Given the description of an element on the screen output the (x, y) to click on. 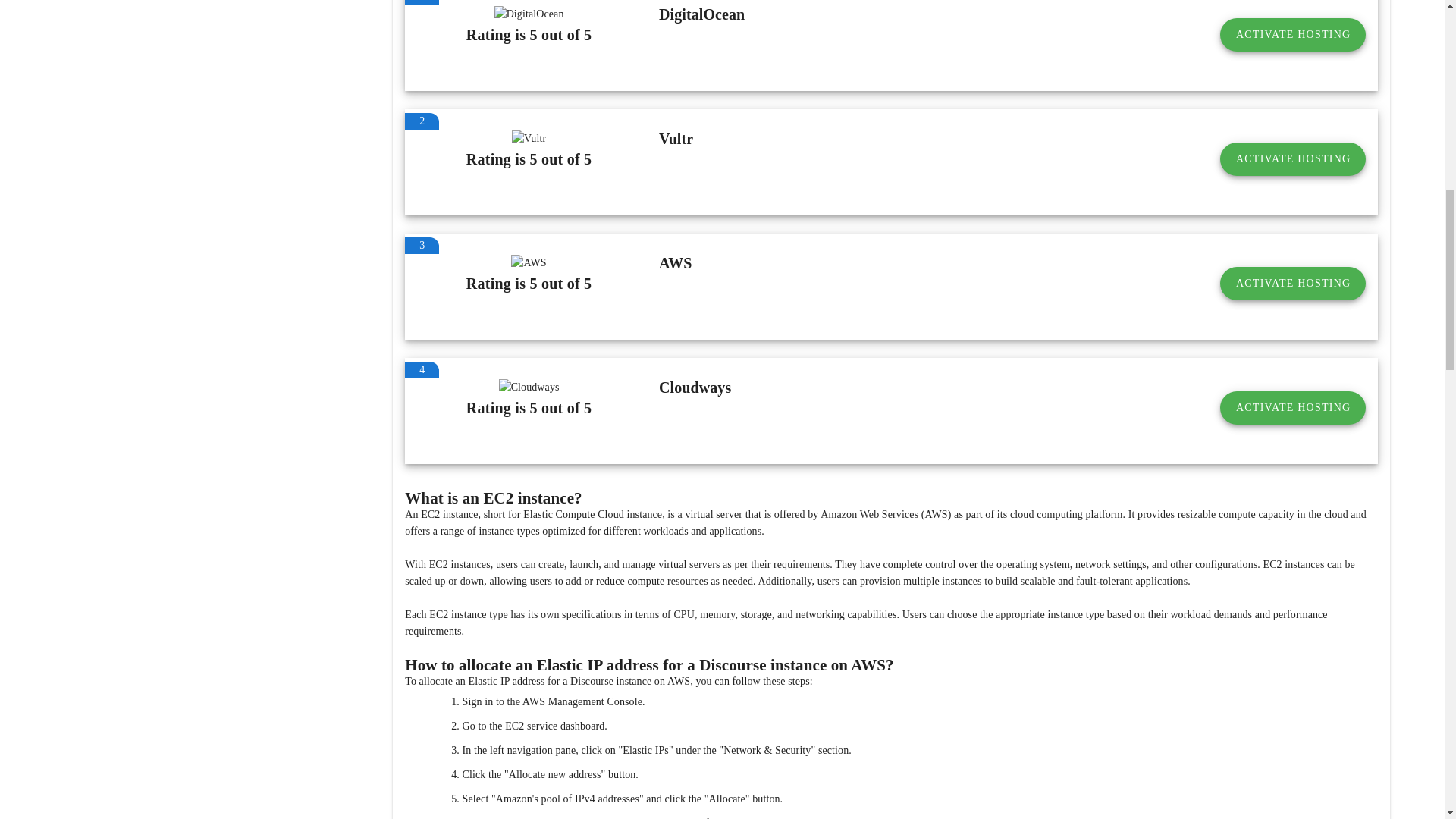
ACTIVATE HOSTING (1292, 408)
ACTIVATE HOSTING (1292, 159)
ACTIVATE HOSTING (1292, 34)
ACTIVATE HOSTING (1292, 283)
